Given the description of an element on the screen output the (x, y) to click on. 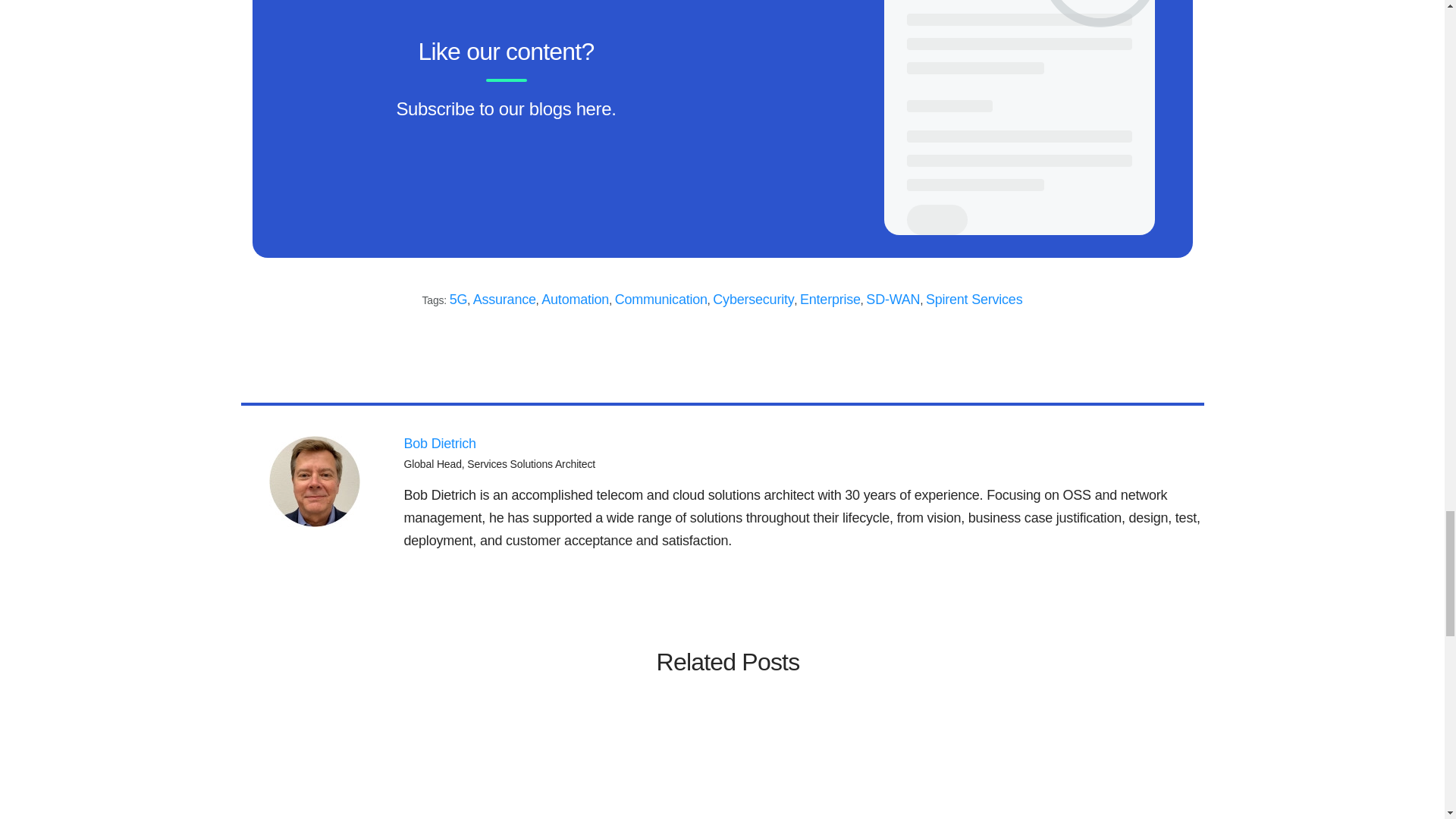
Communication (660, 299)
Spirent Services (974, 299)
Enterprise (829, 299)
Cybersecurity (753, 299)
SD-WAN (893, 299)
Bob Dietrich (439, 443)
Assurance (504, 299)
5G (458, 299)
Automation (574, 299)
